Given the description of an element on the screen output the (x, y) to click on. 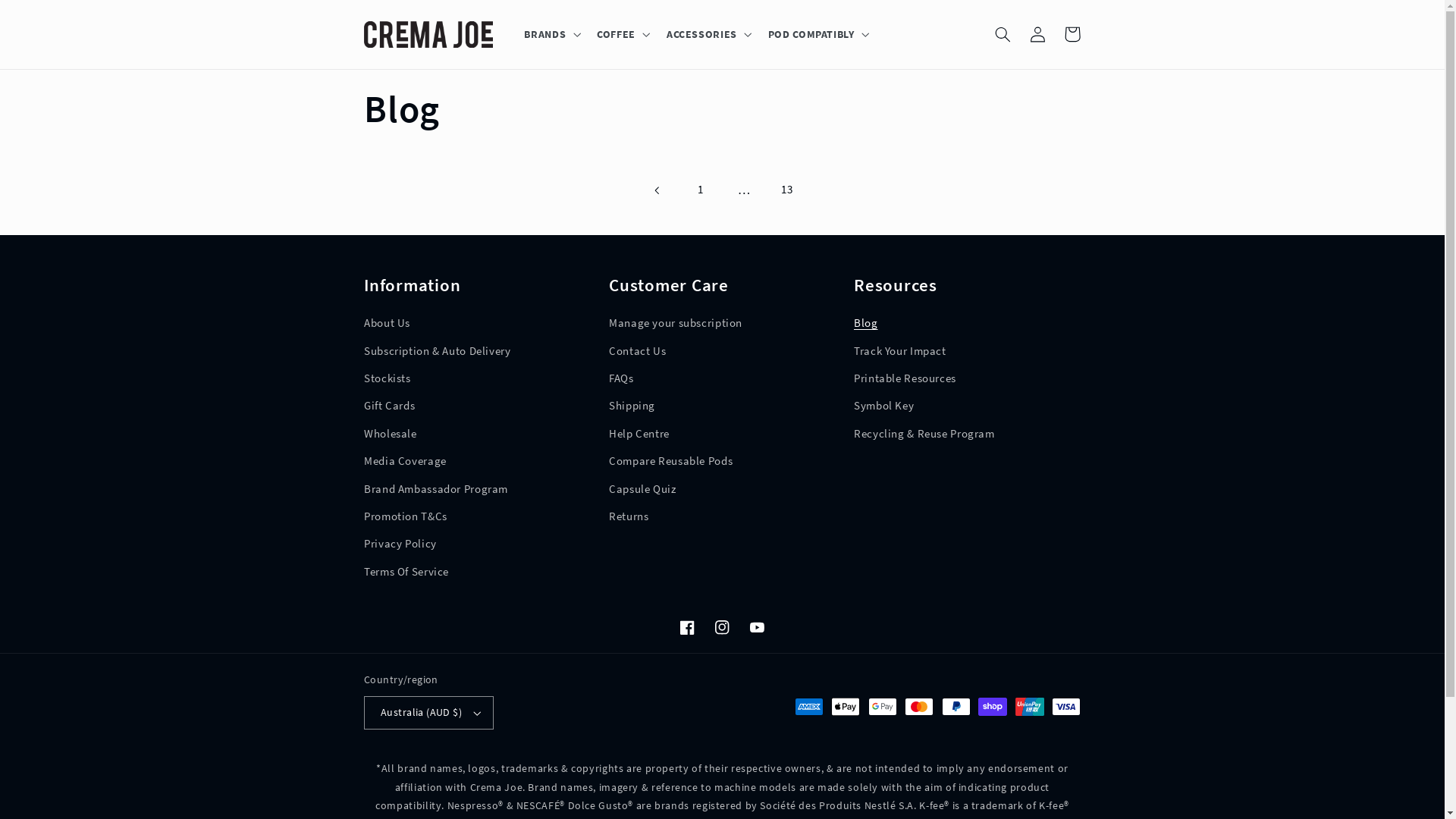
Promotion T&Cs Element type: text (405, 516)
Shipping Element type: text (631, 406)
Subscription & Auto Delivery Element type: text (437, 350)
Cart Element type: text (1071, 33)
Privacy Policy Element type: text (400, 544)
Printable Resources Element type: text (904, 378)
Stockists Element type: text (387, 378)
Terms Of Service Element type: text (406, 571)
Capsule Quiz Element type: text (642, 488)
Track Your Impact Element type: text (899, 350)
YouTube Element type: text (757, 626)
Log in Element type: text (1036, 33)
Media Coverage Element type: text (405, 461)
Returns Element type: text (628, 516)
Help Centre Element type: text (638, 434)
Contact Us Element type: text (636, 350)
Blog Element type: text (865, 325)
Recycling & Reuse Program Element type: text (923, 434)
Compare Reusable Pods Element type: text (670, 461)
Gift Cards Element type: text (389, 406)
Brand Ambassador Program Element type: text (436, 488)
13 Element type: text (785, 189)
Wholesale Element type: text (390, 434)
Australia (AUD $) Element type: text (428, 712)
1 Element type: text (700, 189)
Symbol Key Element type: text (883, 406)
FAQs Element type: text (620, 378)
Facebook Element type: text (686, 626)
Instagram Element type: text (721, 626)
Manage your subscription Element type: text (675, 325)
About Us Element type: text (387, 325)
